Given the description of an element on the screen output the (x, y) to click on. 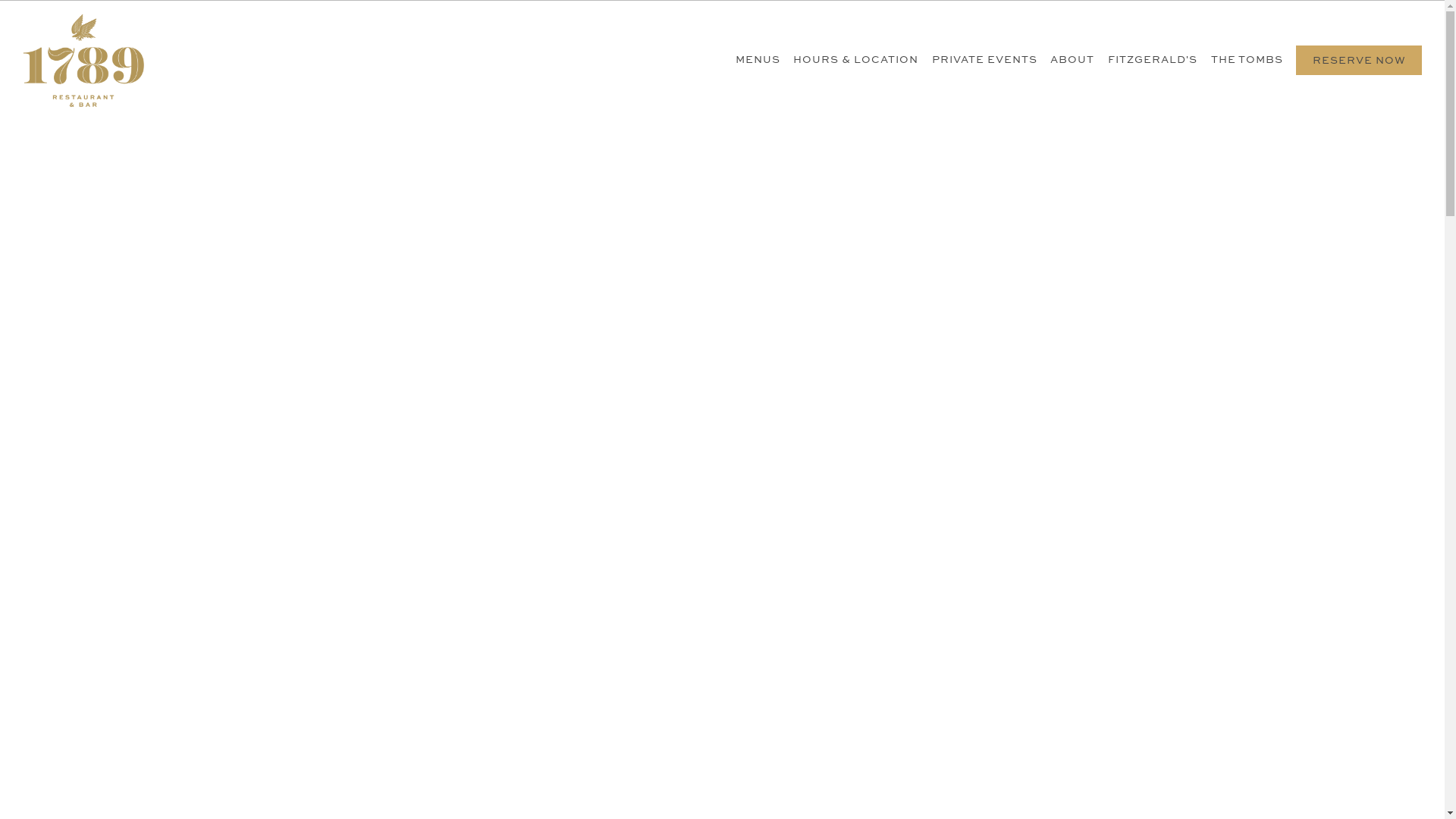
FITZGERALD'S Element type: text (1152, 60)
RESERVE NOW Element type: text (1358, 60)
THE TOMBS Element type: text (1246, 60)
MENUS Element type: text (757, 60)
ABOUT Element type: text (1072, 60)
1226 36th Street, NW Washington, DC 20007 Element type: text (674, 11)
HOURS & LOCATION Element type: text (855, 60)
(202) 965-1789 Element type: text (853, 11)
PRIVATE EVENTS Element type: text (984, 60)
